Given the description of an element on the screen output the (x, y) to click on. 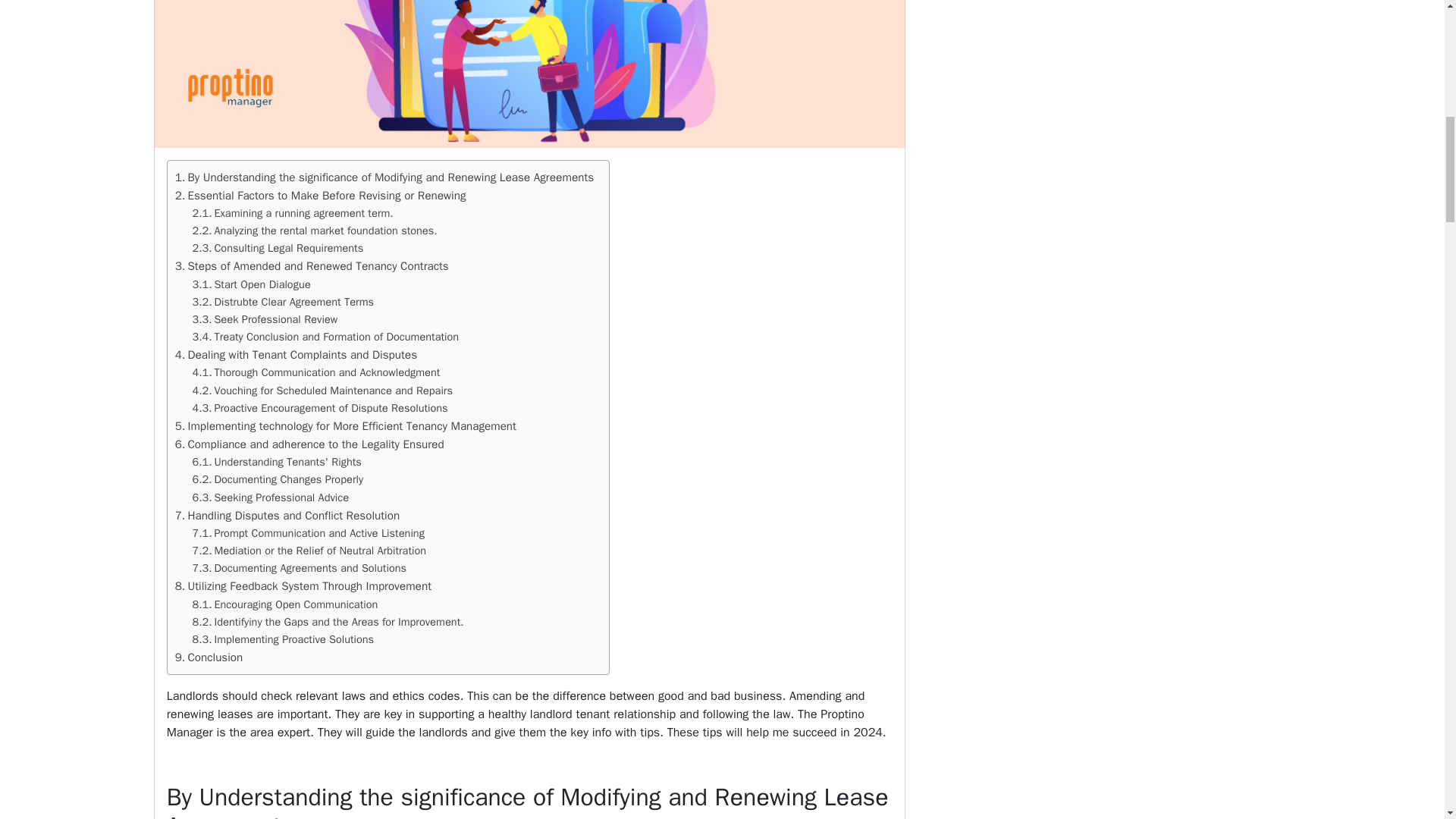
Conclusion (208, 657)
